Given the description of an element on the screen output the (x, y) to click on. 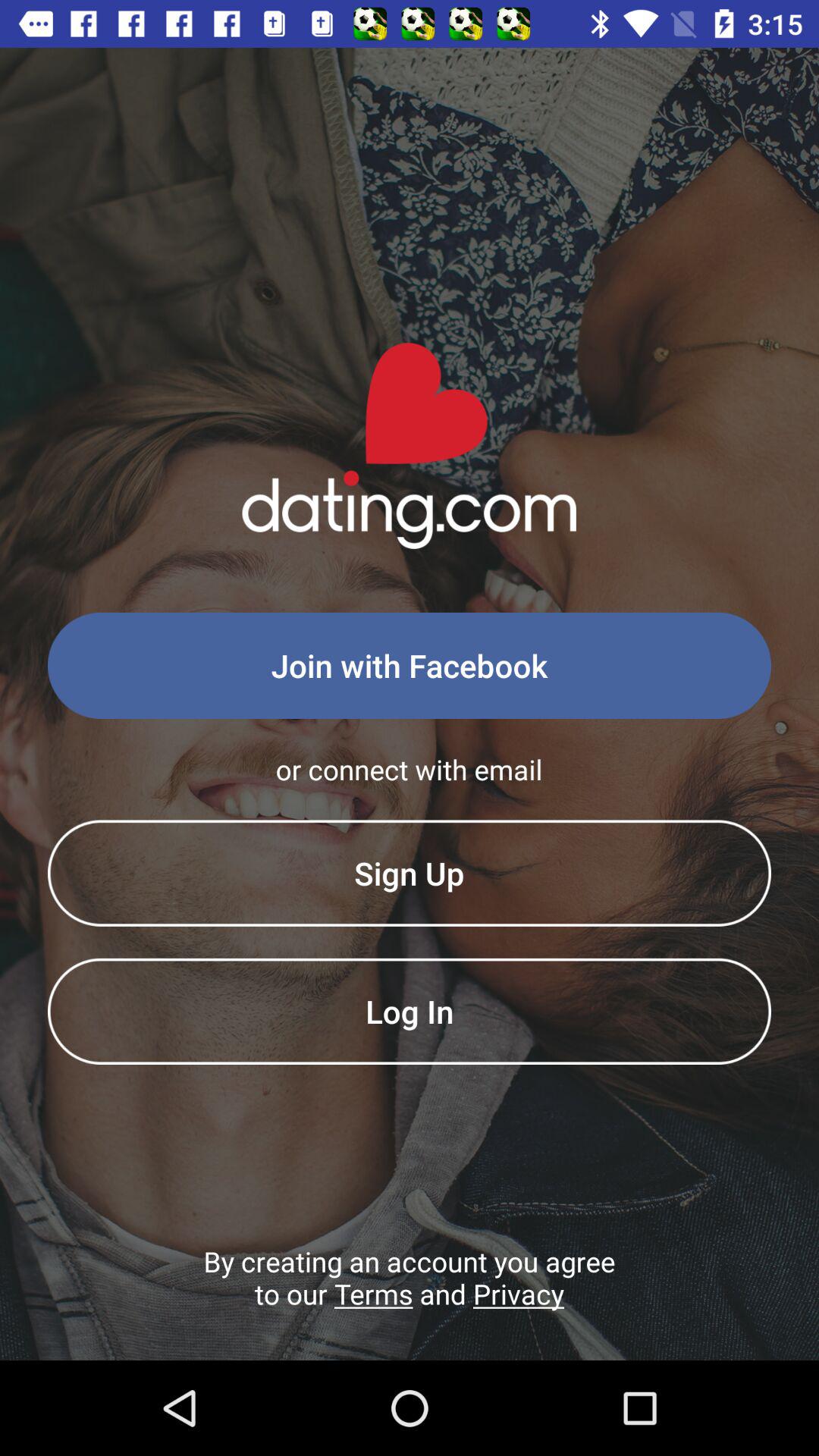
tap the sign up item (409, 873)
